Given the description of an element on the screen output the (x, y) to click on. 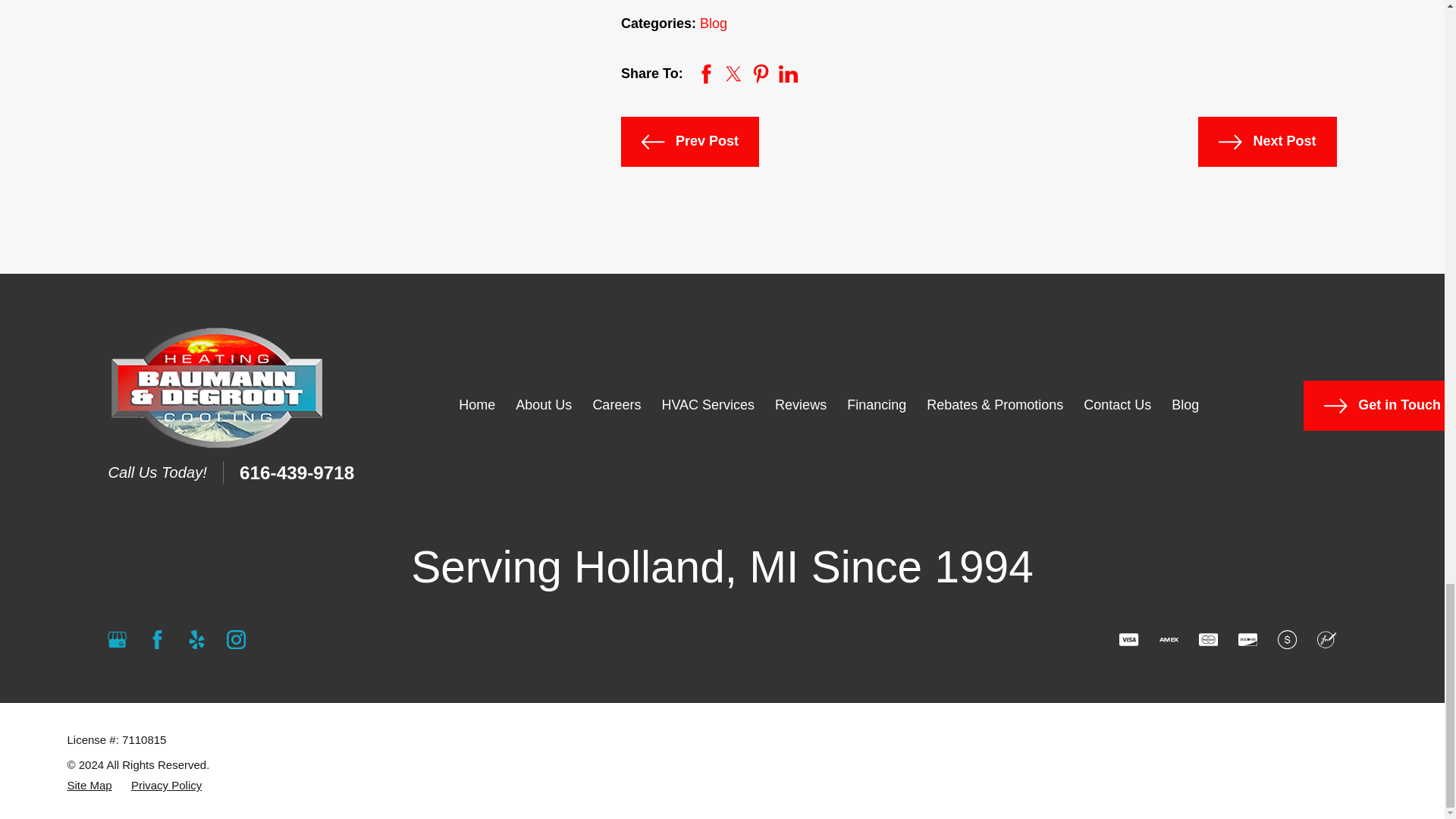
Google Business Profile (116, 639)
Home (216, 387)
Facebook (157, 639)
Yelp (196, 639)
Baumann And Degroot Heating And Cooling (216, 387)
